Given the description of an element on the screen output the (x, y) to click on. 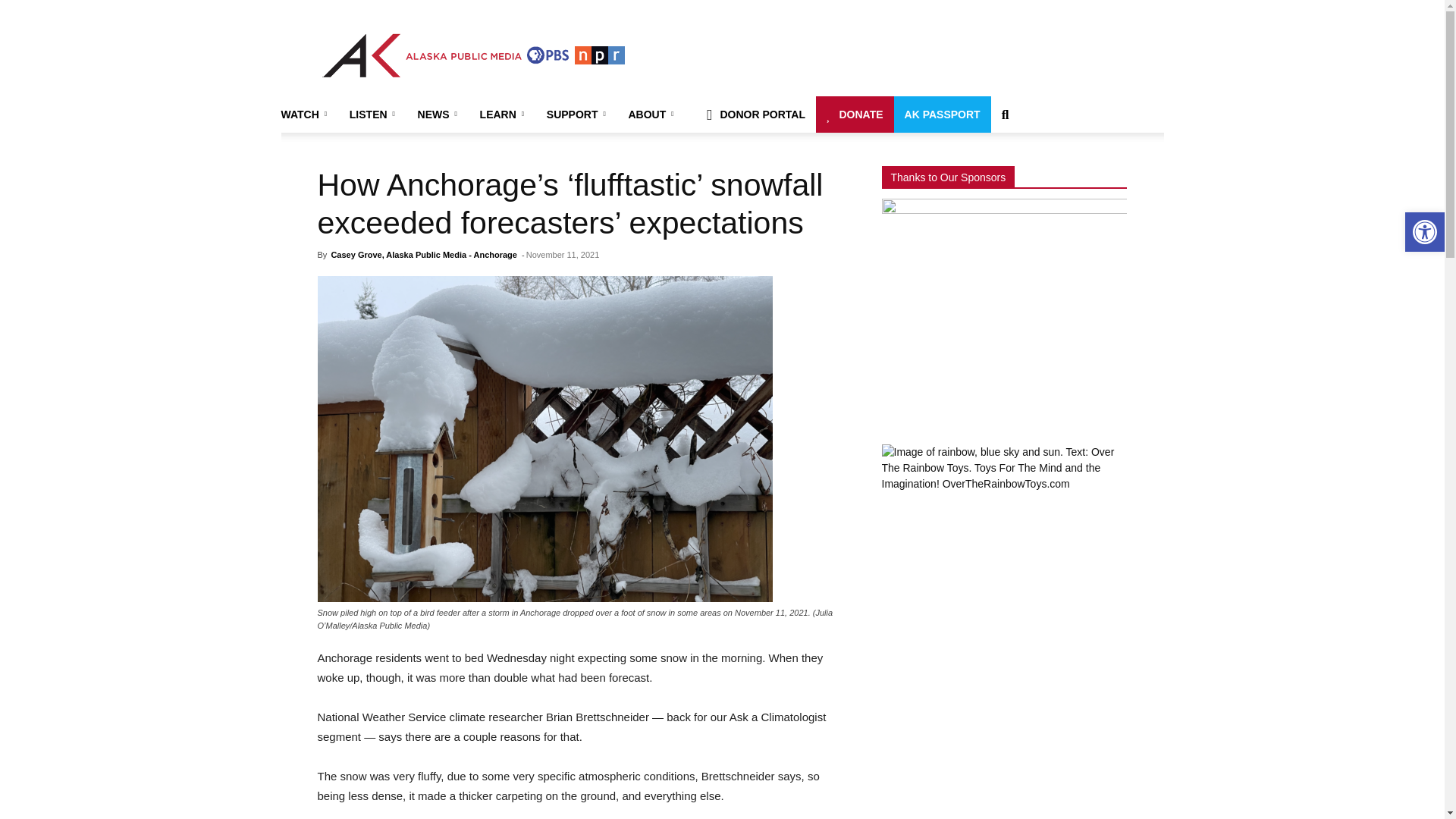
Connecting Alaskans. Life Informed.  (472, 55)
Accessibility Tools (1424, 232)
